Given the description of an element on the screen output the (x, y) to click on. 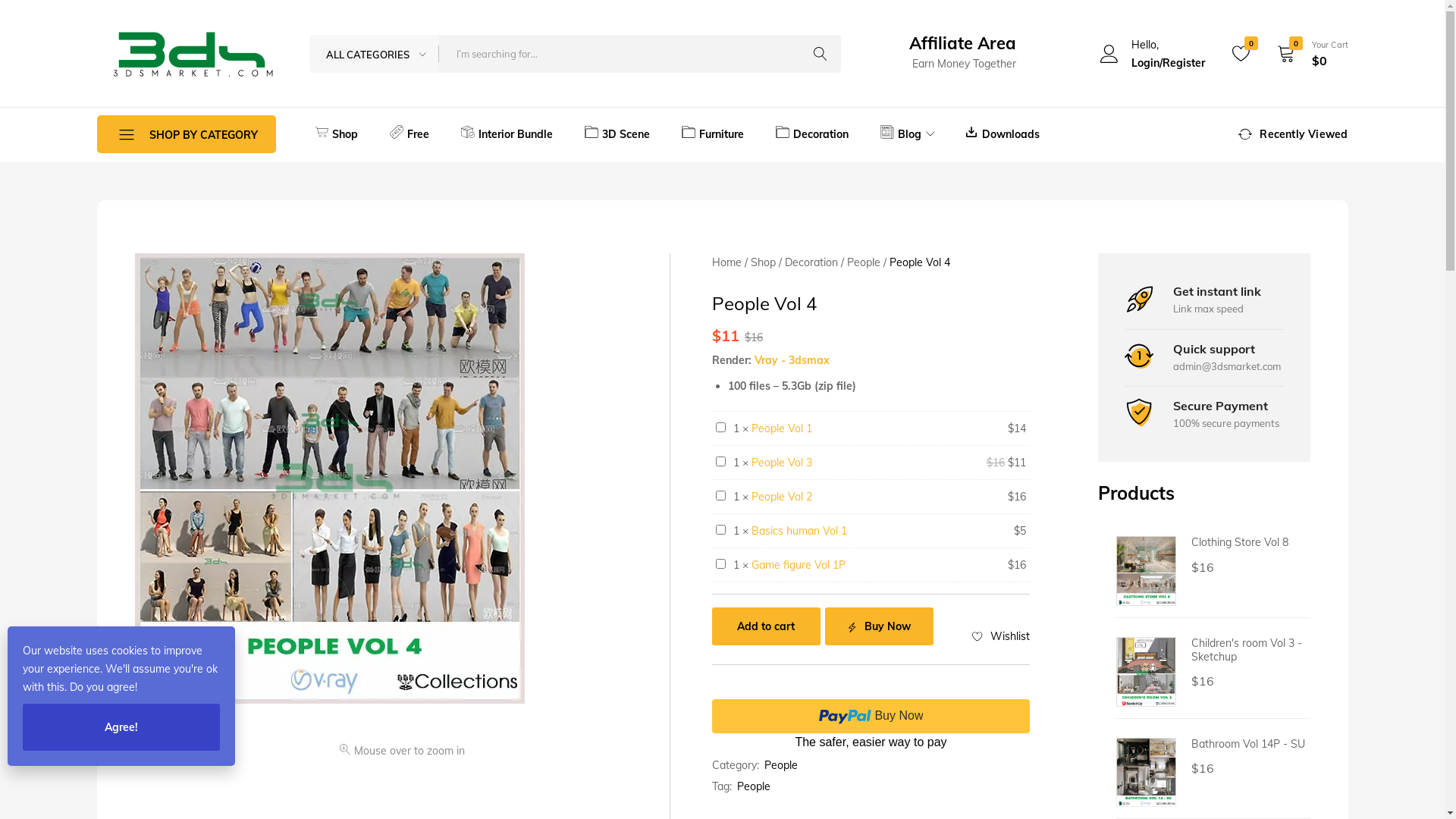
Hello,
Login/Register Element type: text (1151, 53)
homepage-new-image-box-img-2 Element type: hover (1138, 355)
Agree! Element type: text (120, 726)
Children's room Vol 3 - Sketchup Element type: text (1246, 649)
Game figure Vol 1P Element type: text (798, 564)
Add to cart Element type: text (766, 626)
People Vol 1 Element type: text (781, 428)
Free Element type: text (408, 133)
PayPal Element type: hover (870, 724)
homepage-new-image-box-img-1 Element type: hover (1138, 298)
Affiliate Area Element type: text (961, 42)
People Element type: text (780, 764)
People-Vol-4.jpg Element type: hover (329, 478)
Downloads Element type: text (1000, 133)
Home Element type: text (726, 262)
Decoration Element type: text (811, 133)
People Element type: text (753, 786)
Buy Now Element type: text (879, 626)
Clothing Store Vol 8 Element type: text (1239, 542)
Basics human Vol 1 Element type: text (799, 530)
People Vol 3 Element type: text (781, 462)
Wishlist Element type: text (1000, 636)
People Vol 2 Element type: text (781, 496)
Decoration Element type: text (810, 262)
Blog Element type: text (906, 133)
homepage-new-image-box-img-3 Element type: hover (1138, 412)
Bathroom Vol 14P - SU Element type: text (1248, 743)
0
Your Cart
$0 Element type: text (1308, 53)
People Element type: text (863, 262)
Vray - 3dsmax Element type: text (791, 360)
Shop Element type: text (762, 262)
0 Element type: text (1240, 53)
Furniture Element type: text (712, 133)
Interior Bundle Element type: text (505, 133)
Shop Element type: text (335, 133)
3D Scene Element type: text (616, 133)
